Given the description of an element on the screen output the (x, y) to click on. 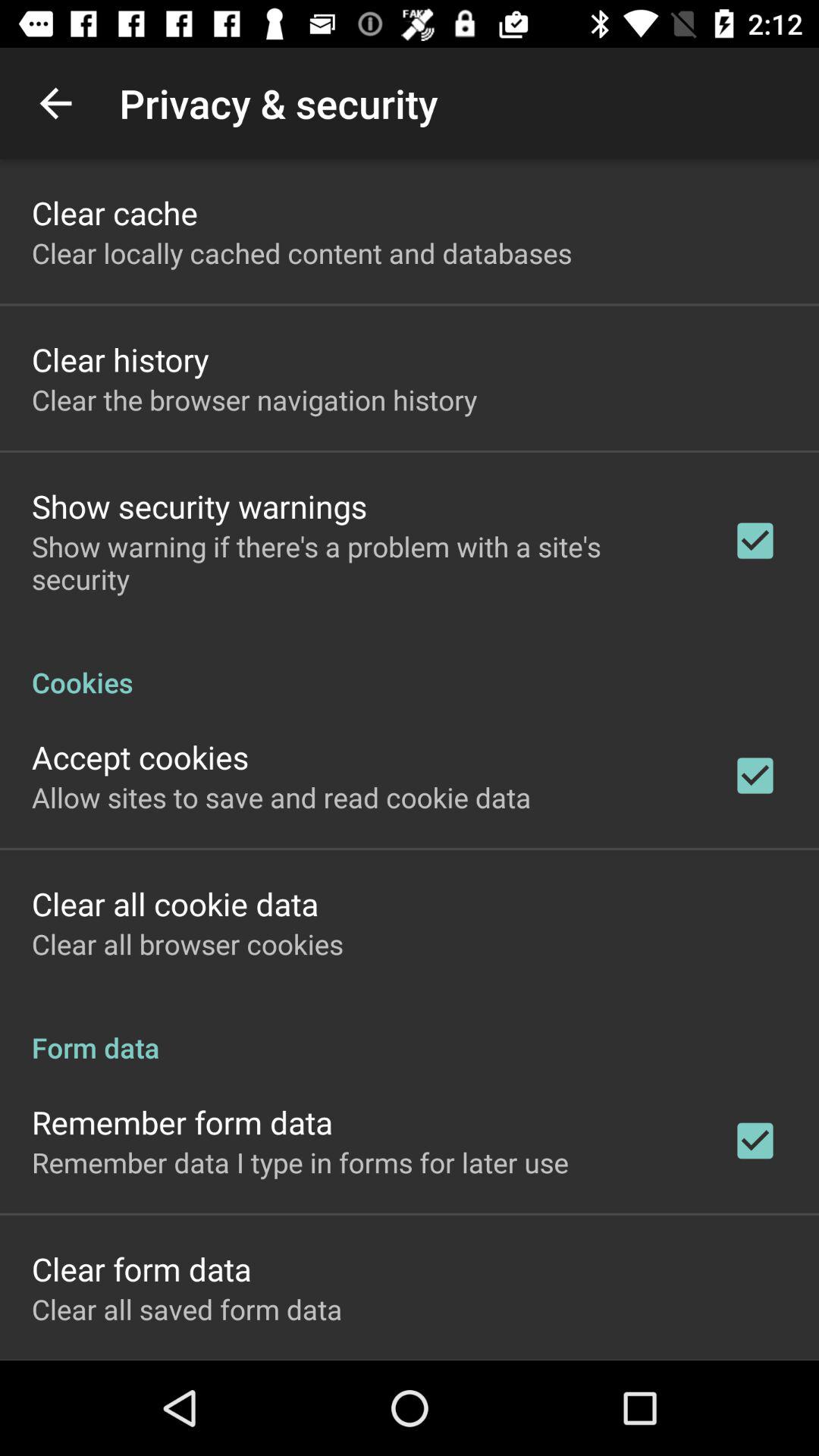
press app below cookies icon (140, 756)
